Given the description of an element on the screen output the (x, y) to click on. 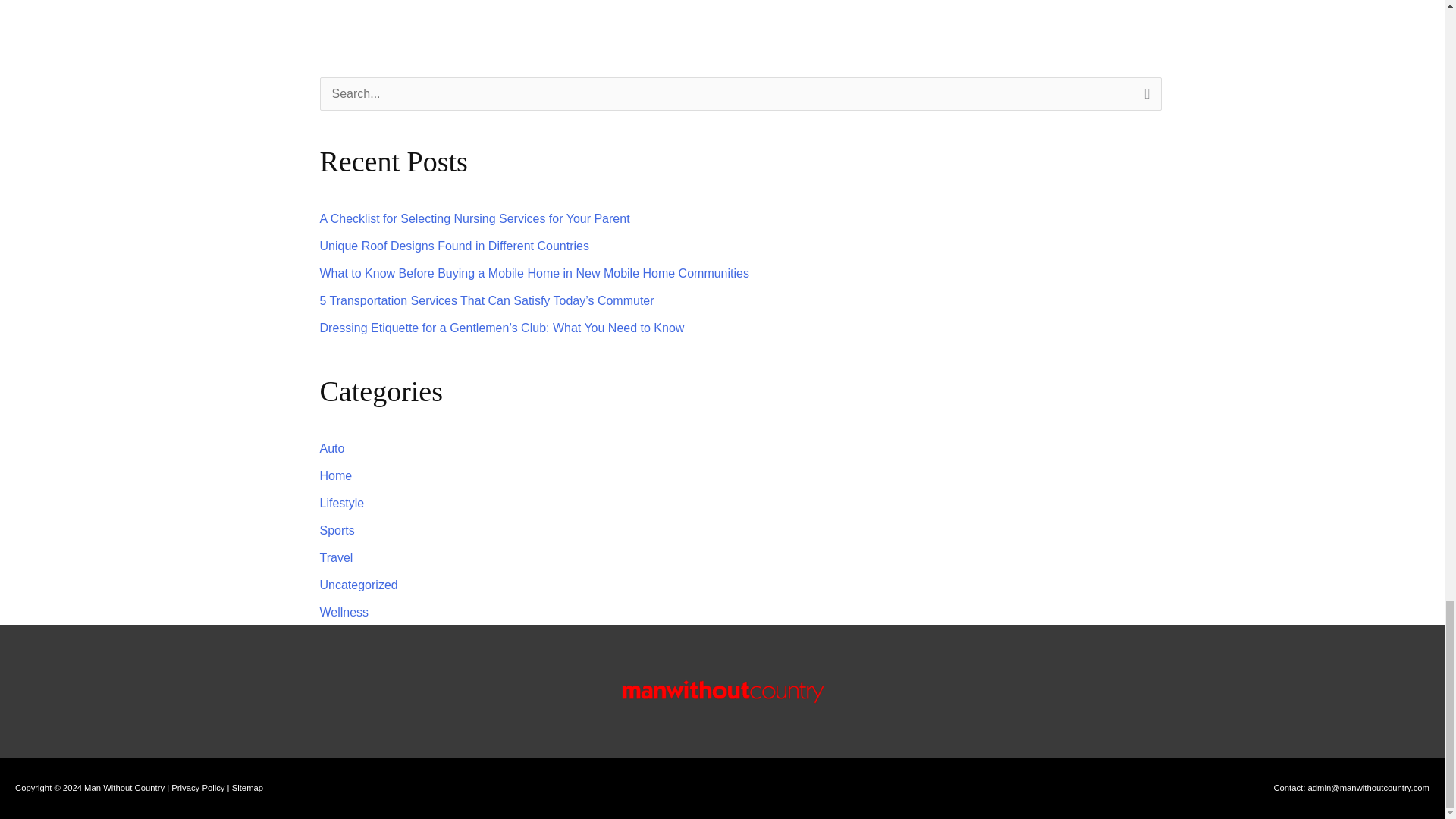
Travel (336, 557)
Lifestyle (342, 502)
A Checklist for Selecting Nursing Services for Your Parent (475, 218)
Wellness (344, 612)
Auto (332, 448)
Sports (337, 530)
Unique Roof Designs Found in Different Countries (454, 245)
Privacy Policy (197, 787)
Home (336, 475)
Uncategorized (358, 584)
Sitemap (247, 787)
